Given the description of an element on the screen output the (x, y) to click on. 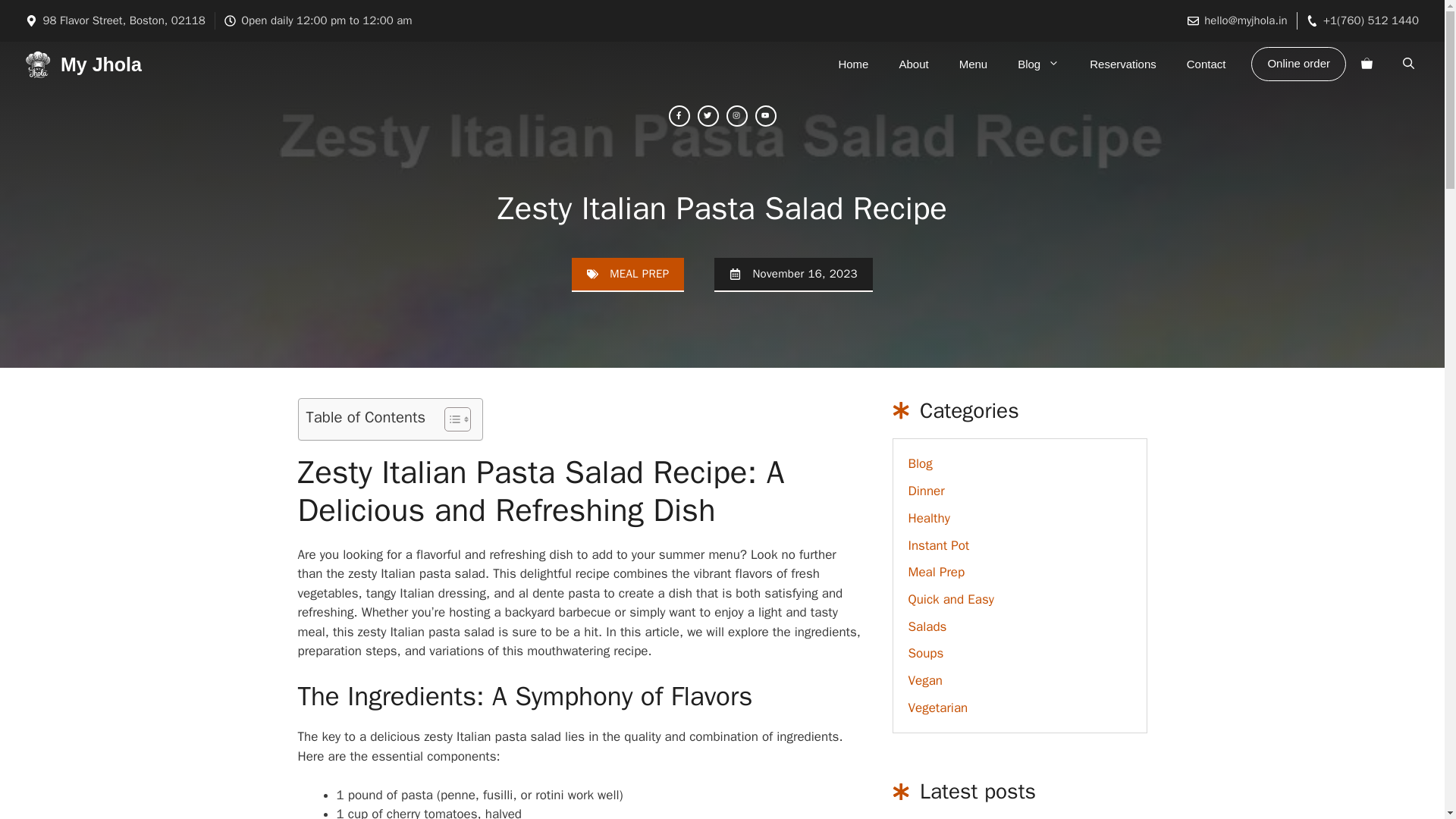
Reservations (1123, 63)
My Jhola (101, 63)
About (913, 63)
Menu (973, 63)
MEAL PREP (639, 273)
Contact (1206, 63)
Home (852, 63)
Online order (1297, 63)
Blog (1038, 63)
View your shopping cart (1366, 63)
